Given the description of an element on the screen output the (x, y) to click on. 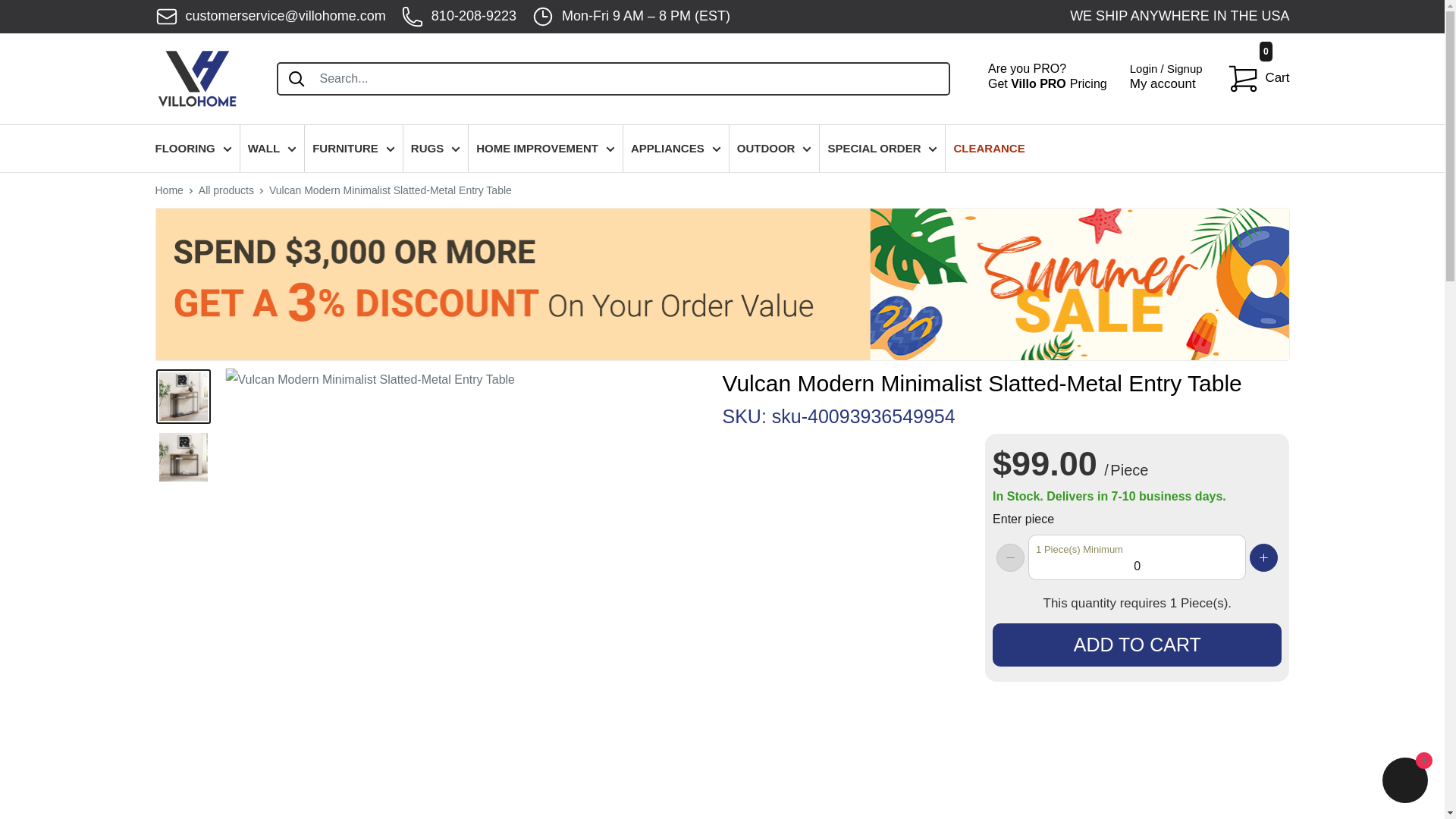
Villopro (1047, 78)
0 (1136, 556)
Shopify online store chat (1404, 781)
810-208-9223 (458, 16)
